Given the description of an element on the screen output the (x, y) to click on. 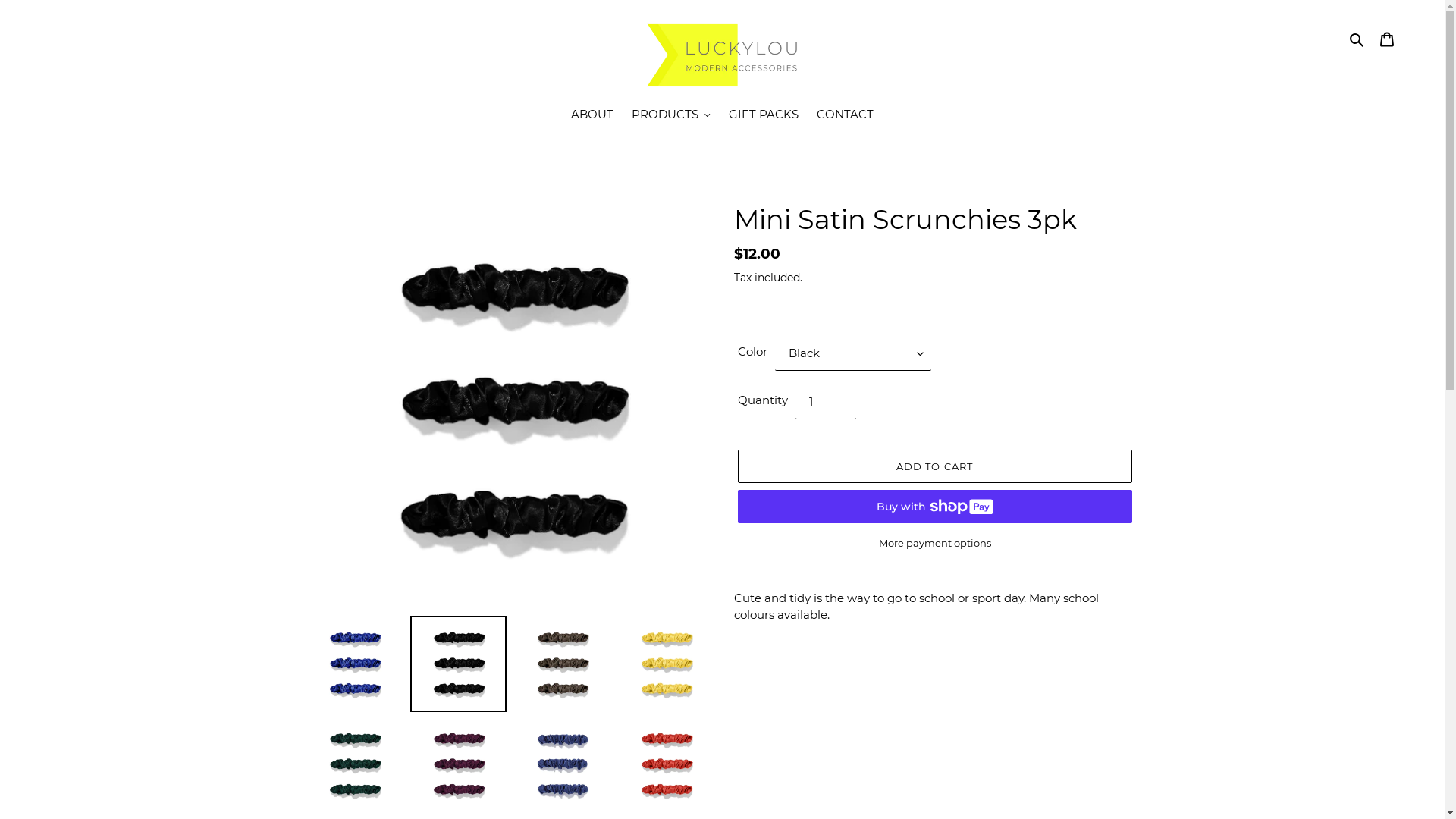
PRODUCTS Element type: text (671, 115)
Search Element type: text (1357, 38)
ADD TO CART Element type: text (934, 465)
GIFT PACKS Element type: text (763, 115)
More payment options Element type: text (934, 543)
Cart Element type: text (1386, 38)
CONTACT Element type: text (845, 115)
ABOUT Element type: text (592, 115)
